Given the description of an element on the screen output the (x, y) to click on. 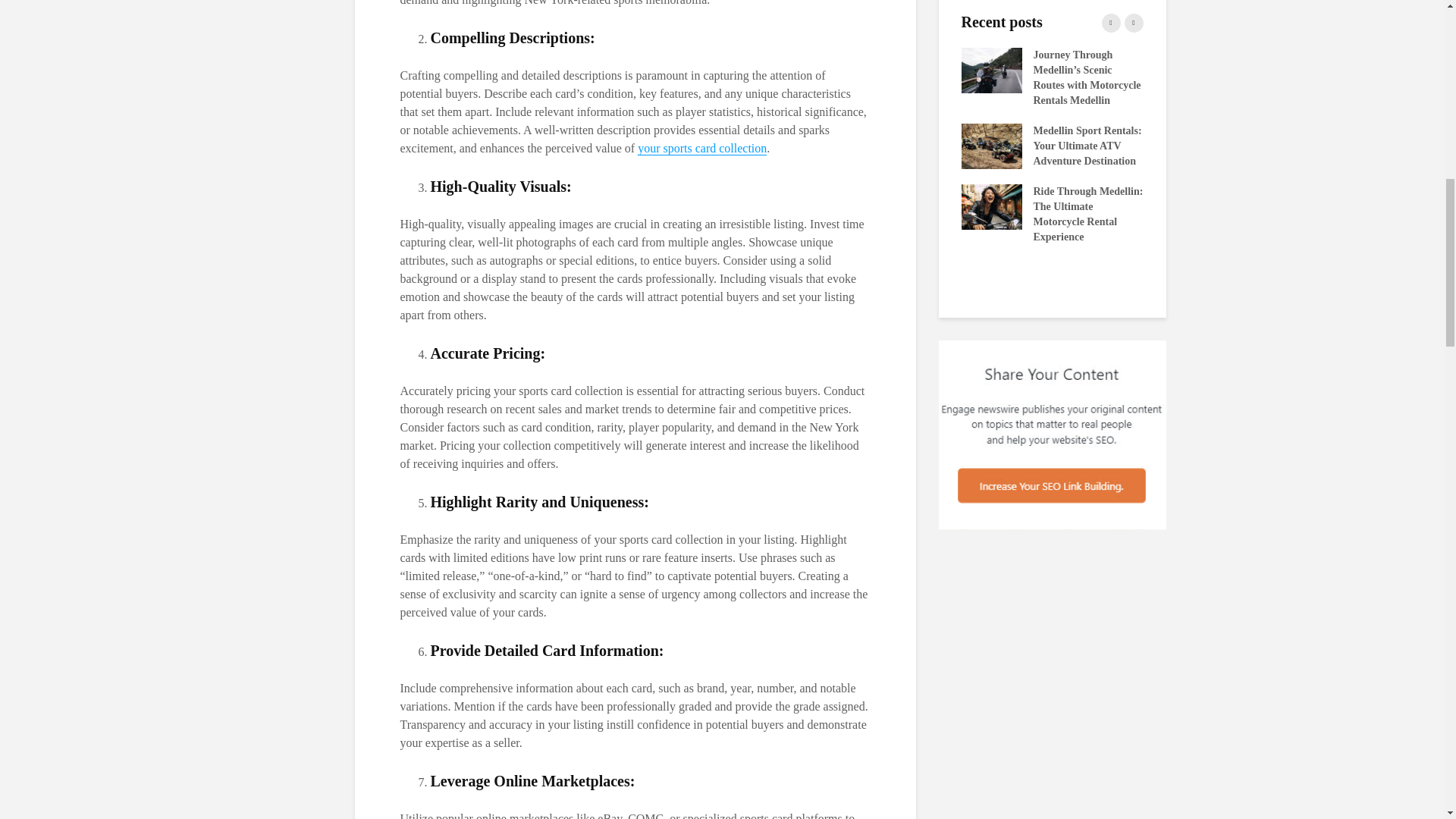
Legal Requirements for Small Business Insurance in Florida (1173, 69)
Rare Urological Disorders: What You Need to Know (809, 129)
Rare Urological Disorders: What You Need to Know (1355, 129)
Legal Requirements for Small Business Insurance in Florida (627, 69)
Maintaining Bladder Health in Your Golden Years (809, 190)
